Given the description of an element on the screen output the (x, y) to click on. 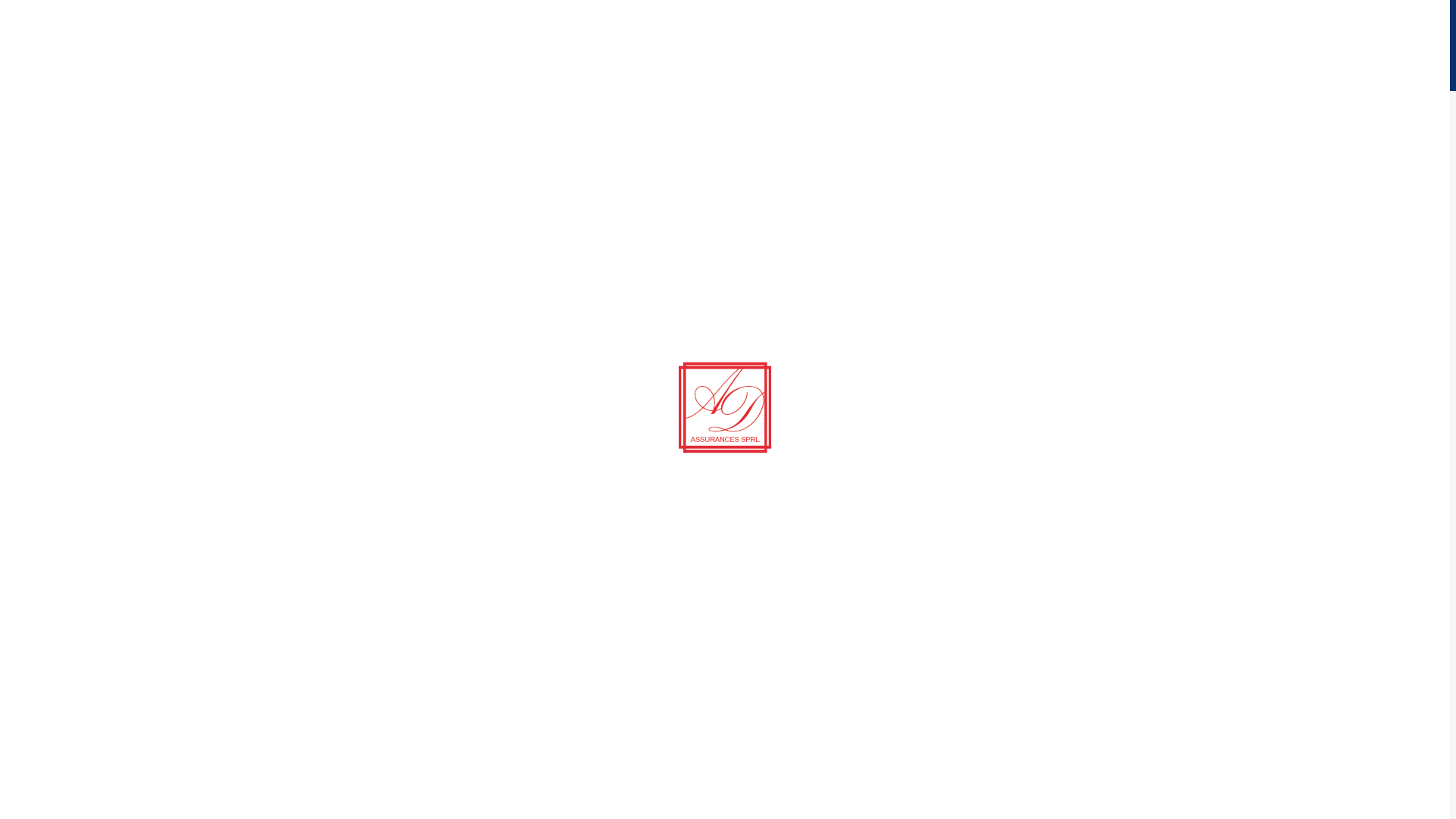
Nos services Element type: text (73, 369)
Contact Element type: text (63, 183)
Partager sur Twitter Element type: hover (1435, 287)
Partager sur Facebook Element type: hover (1435, 265)
Partager sur Google Plus Element type: hover (1435, 331)
Suivez-nous sur Facebook Element type: text (114, 229)
Espace client Element type: text (80, 212)
Souscrire en ligne Element type: text (89, 148)
Professionnel Element type: text (79, 114)
Prendre un rendez-vous Element type: text (246, 369)
Partager sur LinkedIn Element type: hover (1435, 309)
Particulier Element type: text (70, 131)
